Given the description of an element on the screen output the (x, y) to click on. 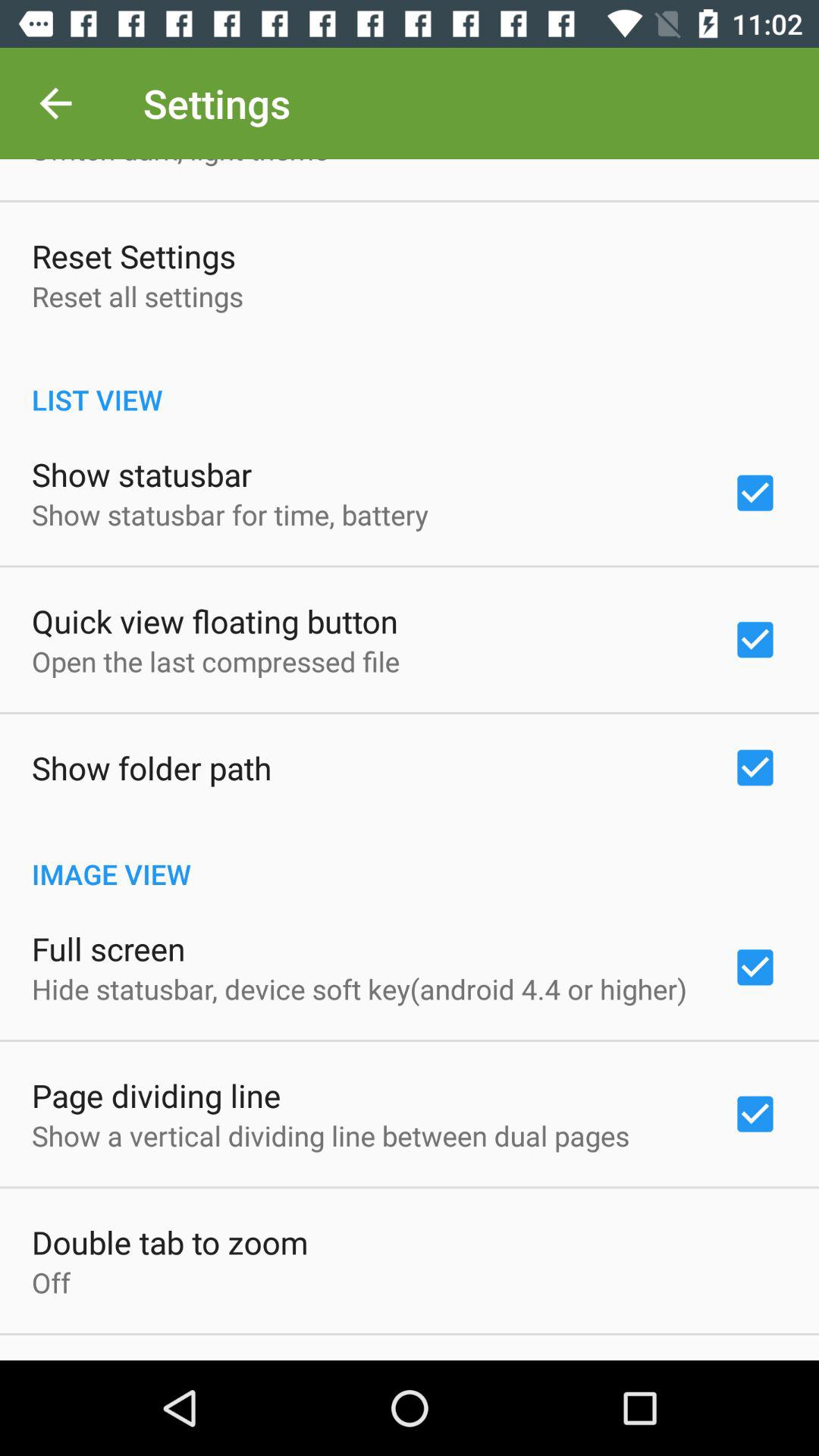
scroll until double tab to (169, 1241)
